Given the description of an element on the screen output the (x, y) to click on. 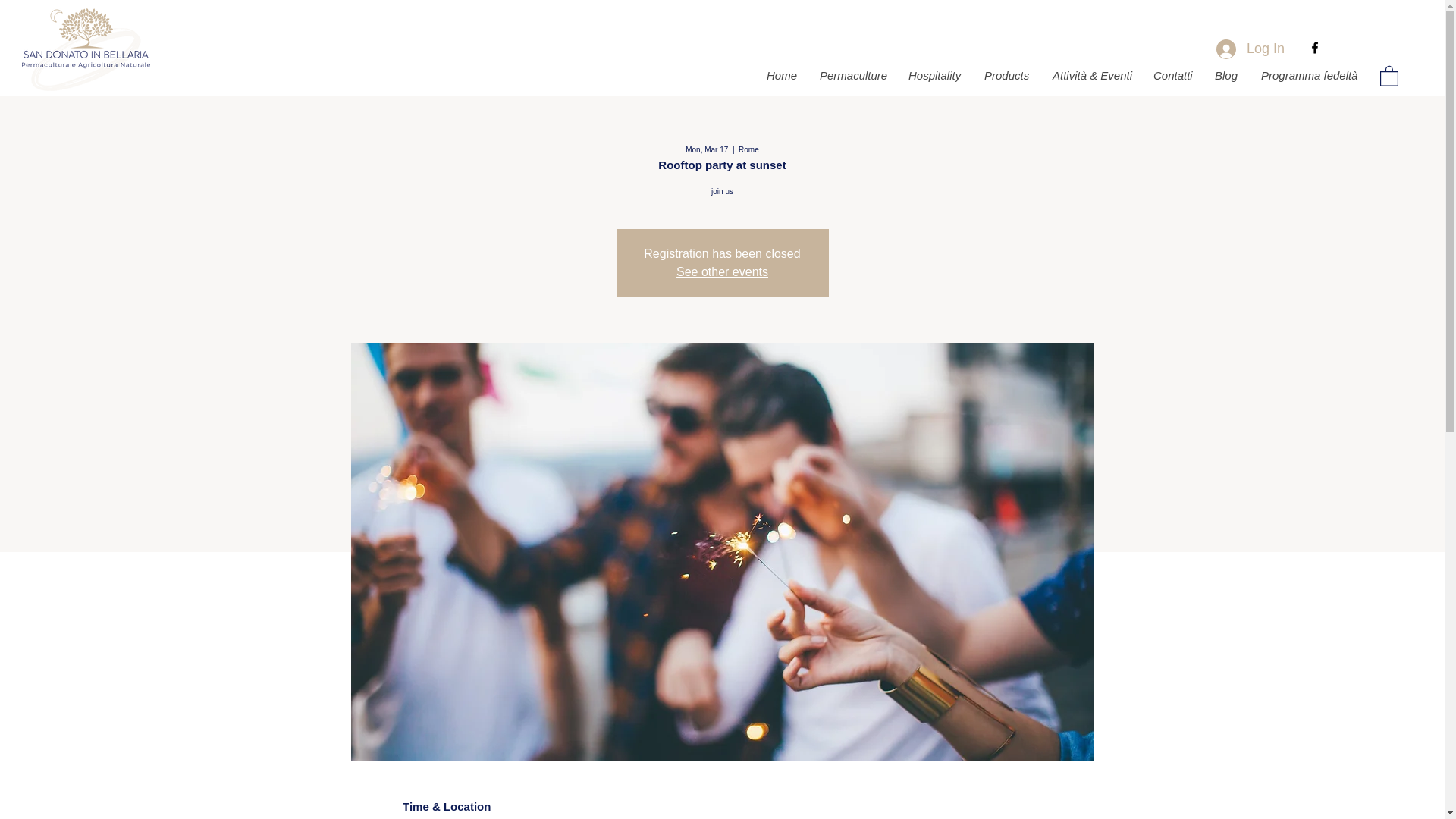
Permaculture (852, 75)
Home (781, 75)
Products (1006, 75)
Contatti (1171, 75)
Log In (1250, 49)
Hospitality (934, 75)
Blog (1225, 75)
See other events (722, 271)
